Given the description of an element on the screen output the (x, y) to click on. 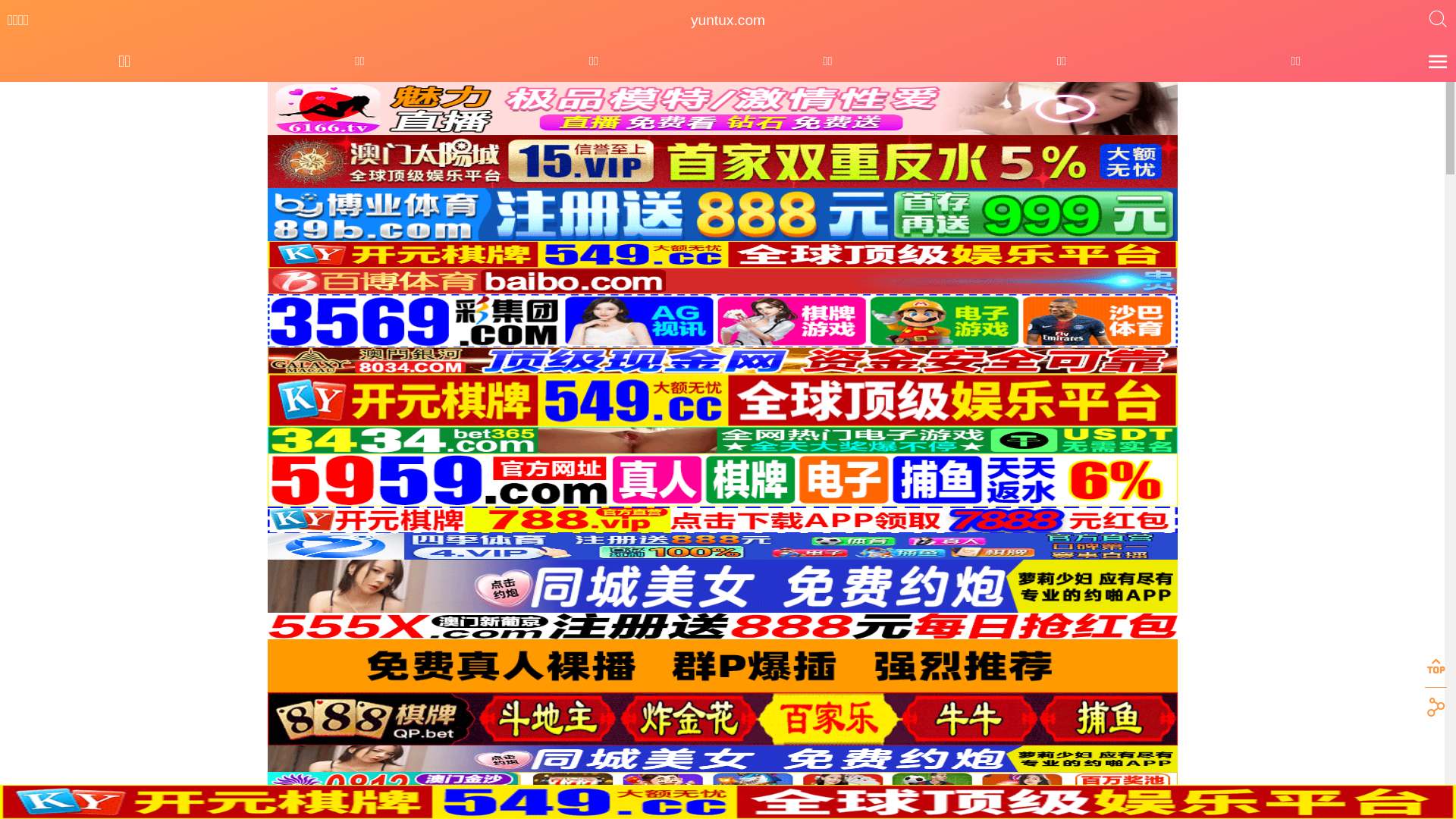
yuntux.com Element type: text (727, 20)
